Given the description of an element on the screen output the (x, y) to click on. 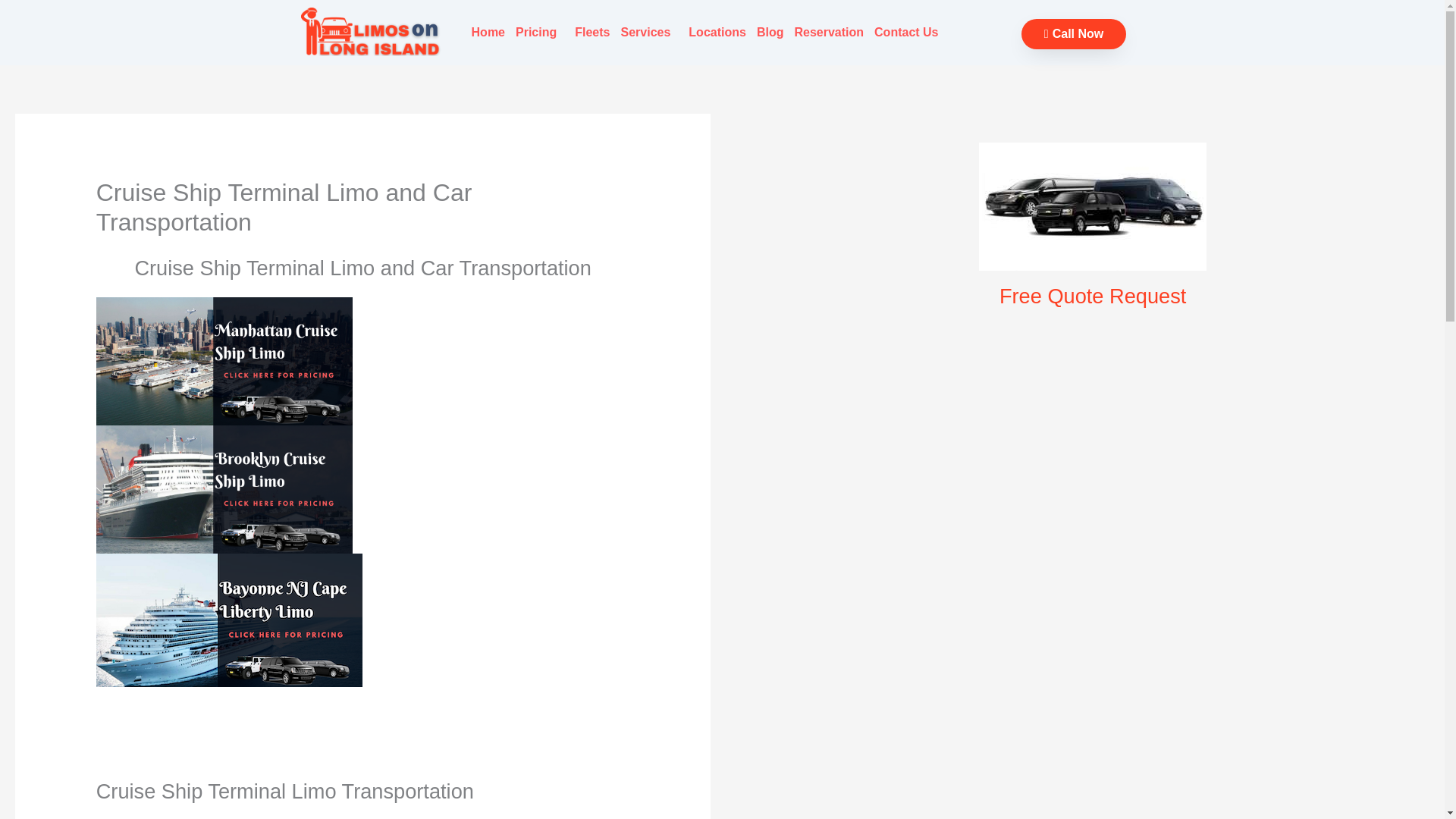
Pricing (540, 32)
Locations (716, 32)
Blog (770, 32)
Home (488, 32)
Reservation (829, 32)
Fleets (591, 32)
Services (649, 32)
Contact Us (906, 32)
